Given the description of an element on the screen output the (x, y) to click on. 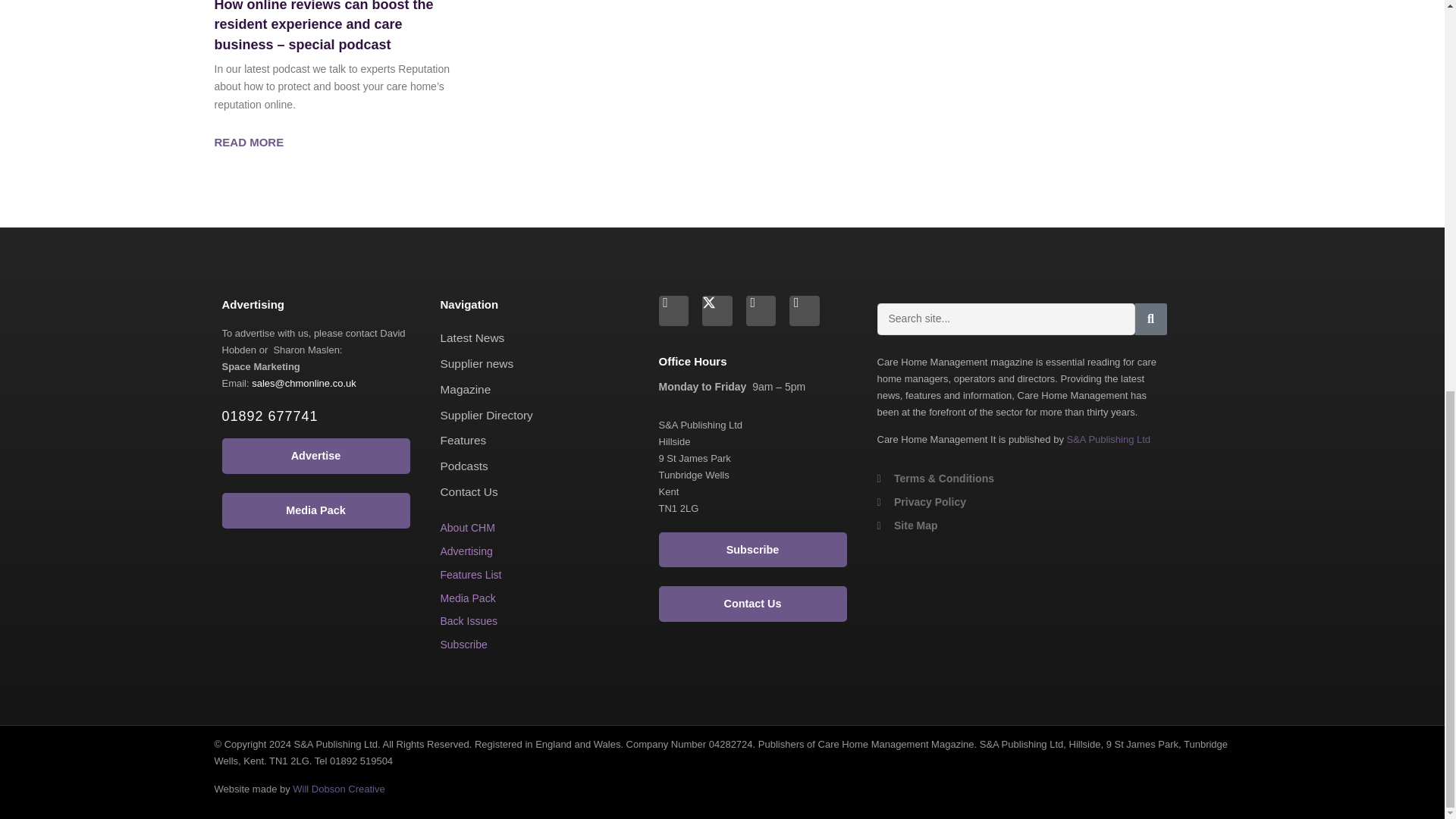
Latest Supplier News (476, 363)
Media Pack (467, 597)
Advertising Opportunities (465, 551)
Website Design by Will Dobson Creative (338, 788)
